Given the description of an element on the screen output the (x, y) to click on. 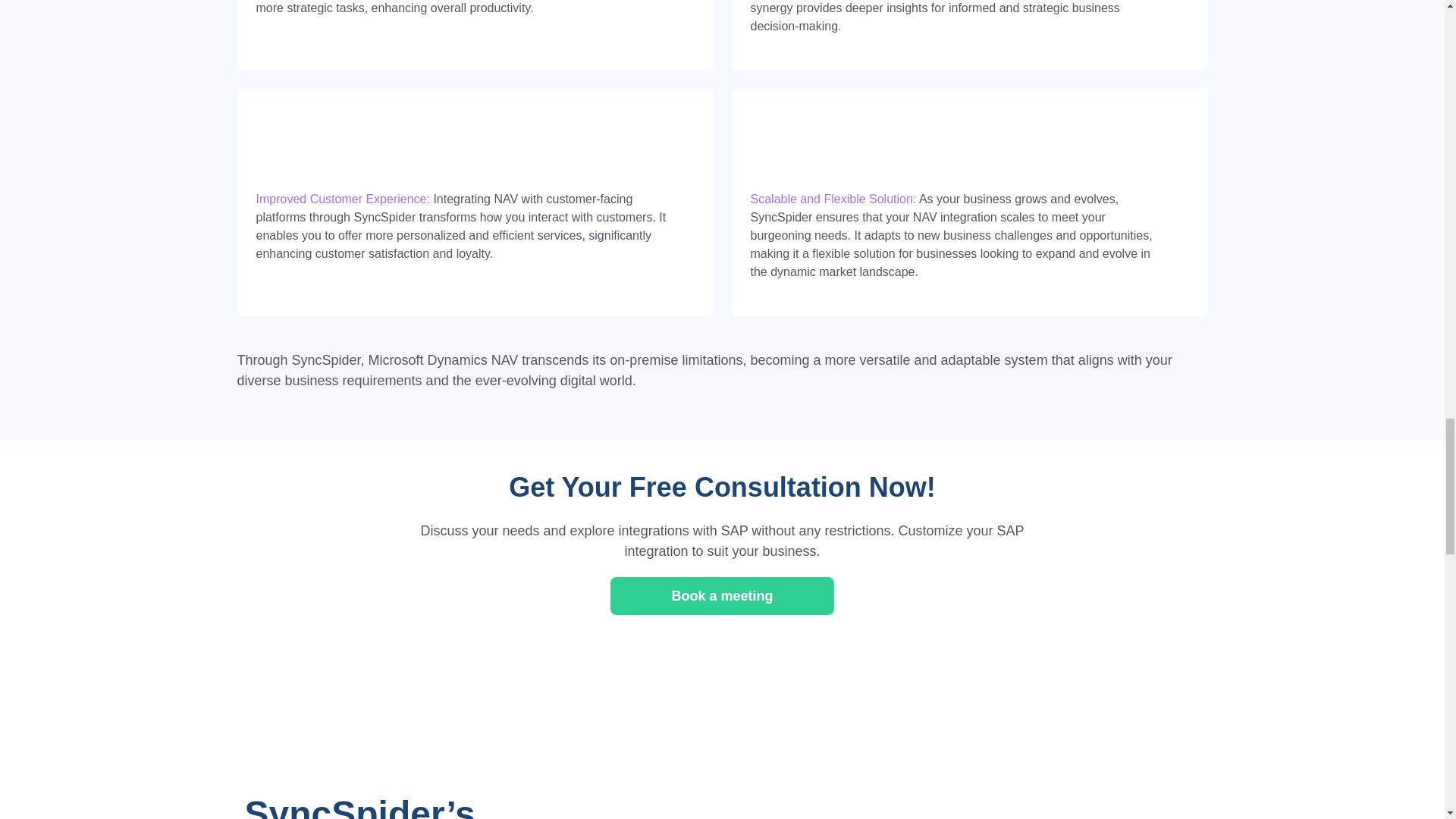
Book a meeting (721, 596)
